Given the description of an element on the screen output the (x, y) to click on. 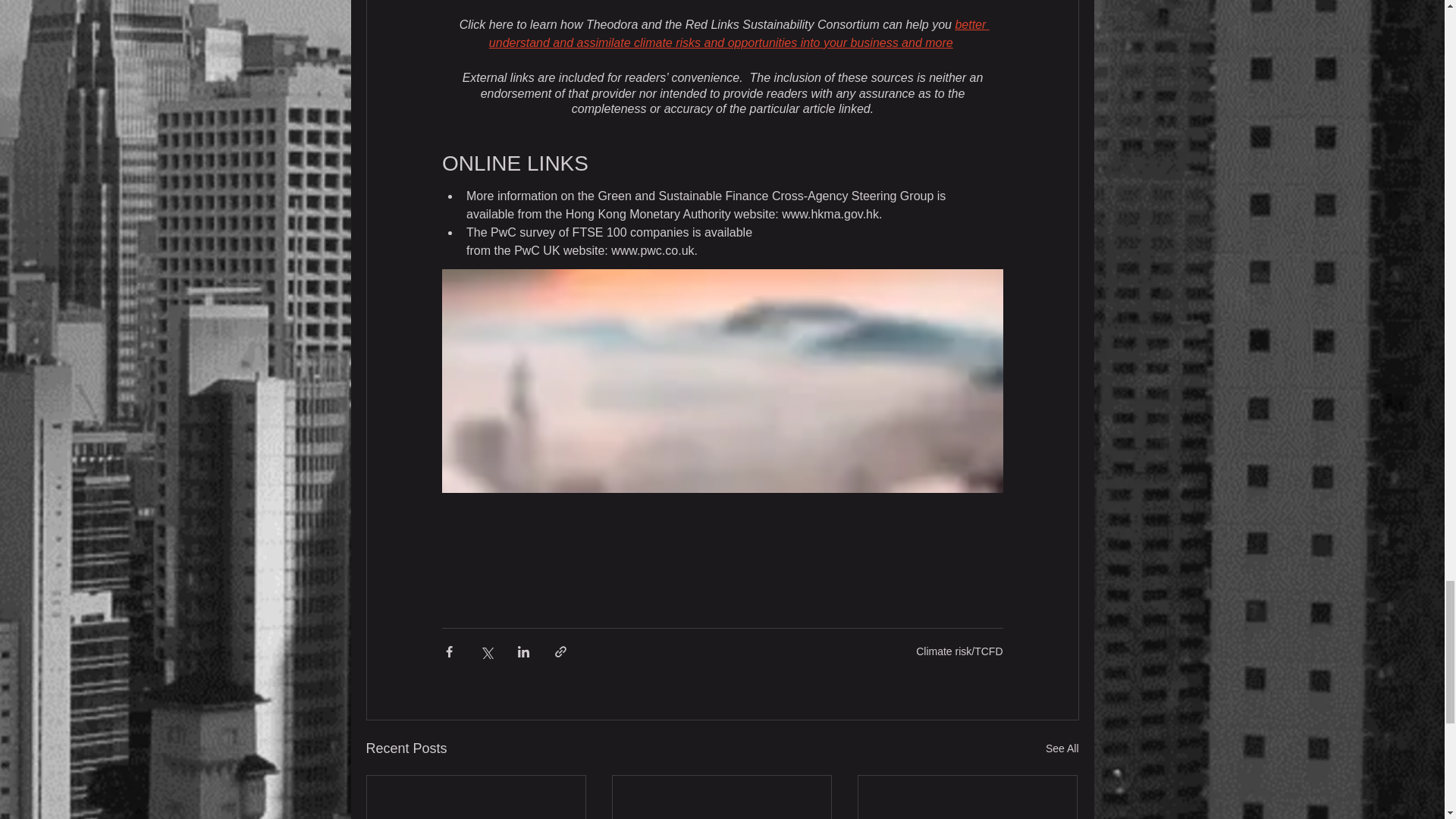
See All (1061, 748)
